Given the description of an element on the screen output the (x, y) to click on. 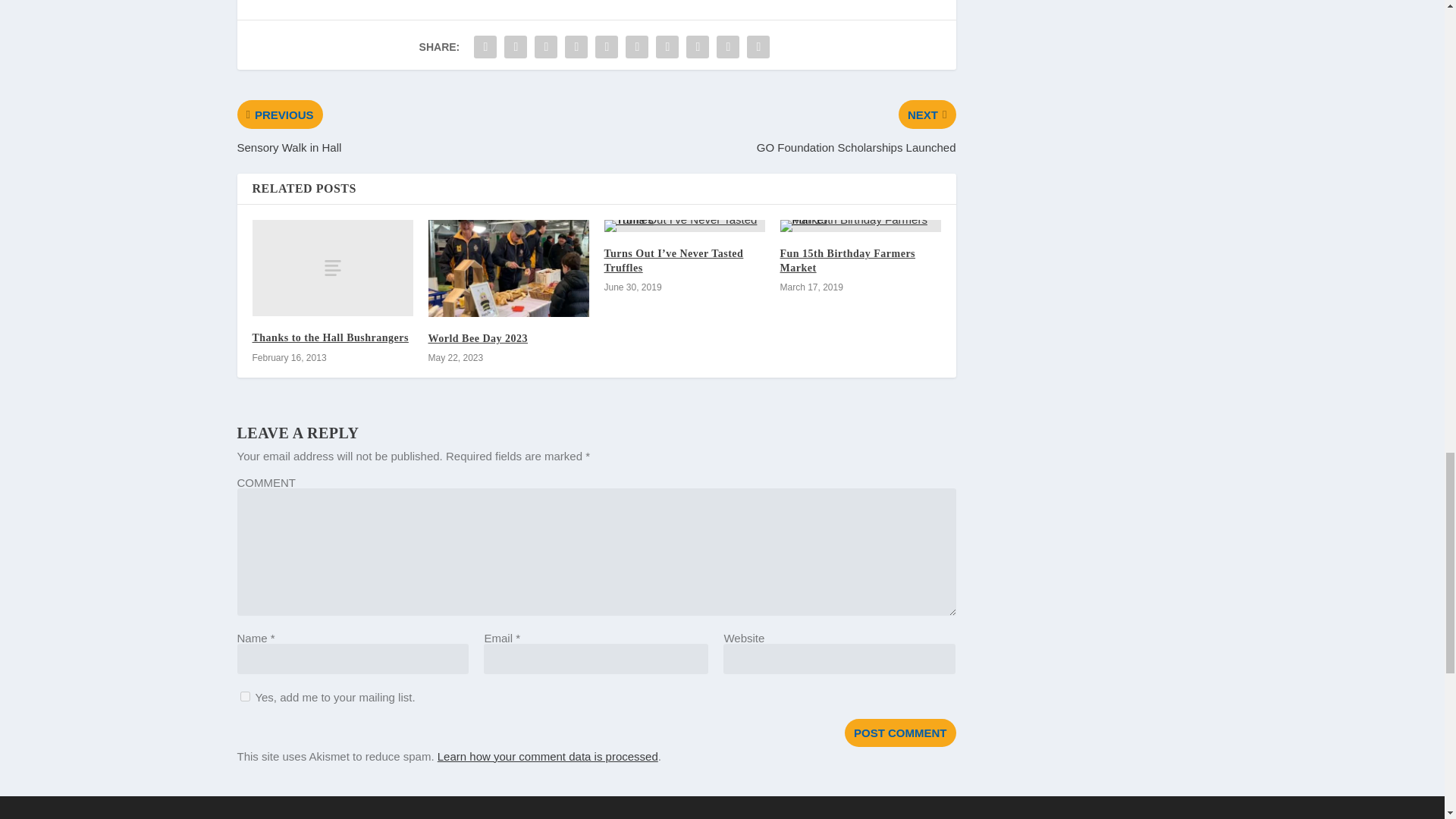
World Bee Day 2023 (477, 337)
Share "COVID Lockdown Challenges" via Buffer (667, 46)
Thanks to the Hall Bushrangers (329, 337)
Share "COVID Lockdown Challenges" via Email (727, 46)
Share "COVID Lockdown Challenges" via Twitter (515, 46)
Share "COVID Lockdown Challenges" via Stumbleupon (697, 46)
Share "COVID Lockdown Challenges" via Facebook (485, 46)
Share "COVID Lockdown Challenges" via Pinterest (606, 46)
Thanks to the Hall Bushrangers (331, 268)
Post Comment (900, 732)
1 (244, 696)
Share "COVID Lockdown Challenges" via Tumblr (575, 46)
Share "COVID Lockdown Challenges" via Print (757, 46)
Share "COVID Lockdown Challenges" via LinkedIn (636, 46)
